Given the description of an element on the screen output the (x, y) to click on. 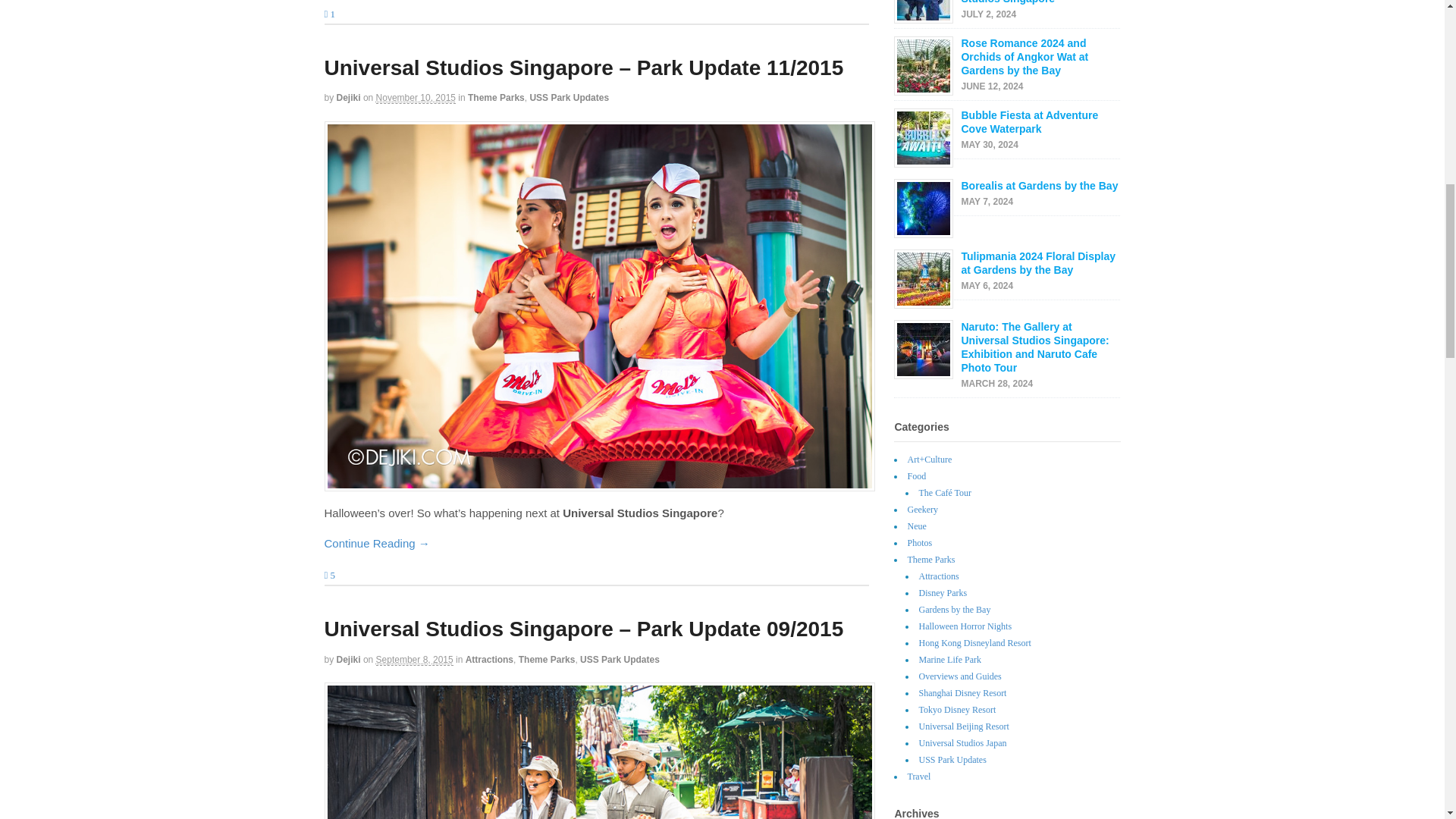
Theme Parks (495, 97)
USS Park Updates (568, 97)
Posts by Dejiki (348, 659)
5 (330, 574)
Attractions (489, 659)
View all items in Theme Parks (546, 659)
View all items in USS Park Updates (568, 97)
View all items in Attractions (489, 659)
Dejiki (348, 97)
Theme Parks (546, 659)
